Given the description of an element on the screen output the (x, y) to click on. 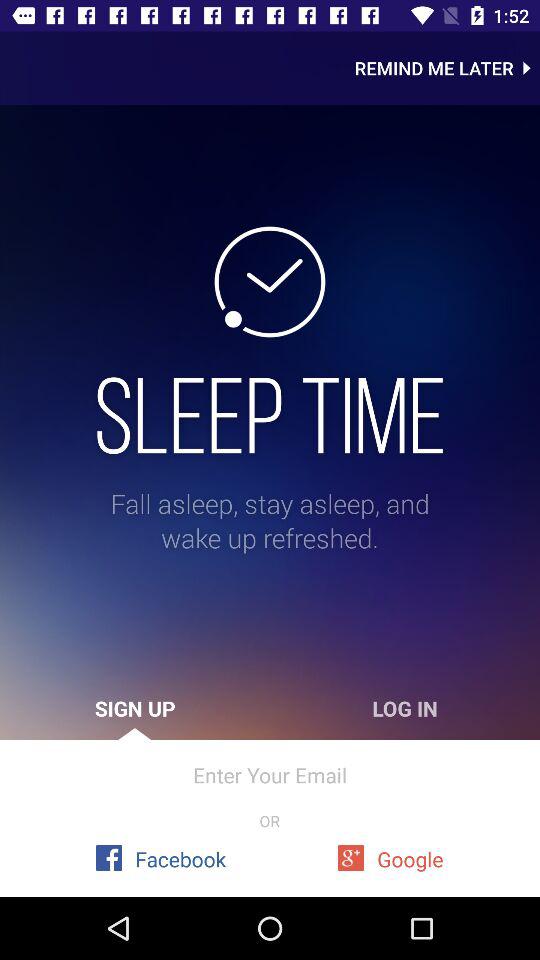
scroll until the remind me later icon (447, 67)
